Given the description of an element on the screen output the (x, y) to click on. 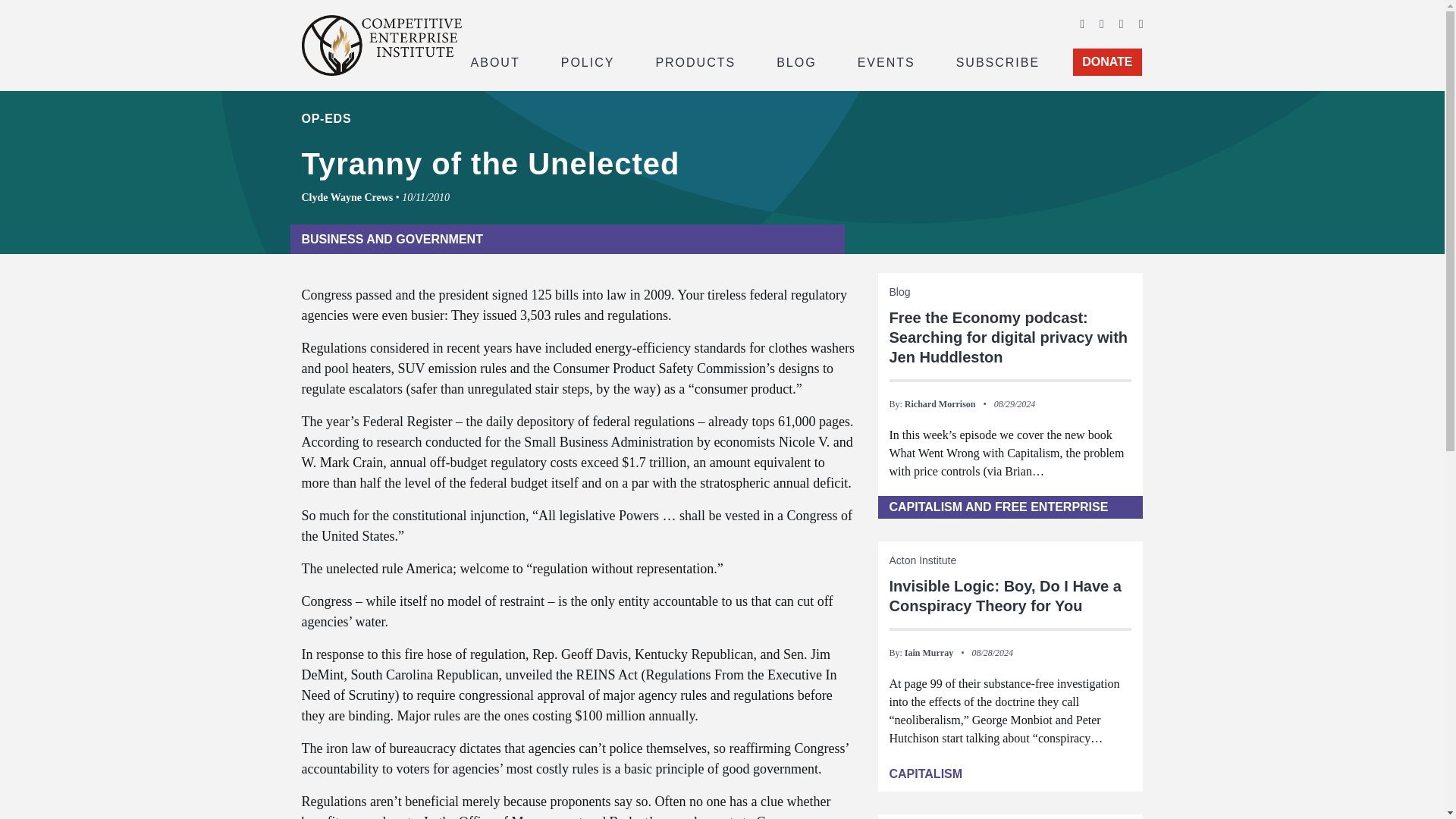
PRODUCTS (694, 61)
DONATE (1107, 62)
SUBSCRIBE (997, 61)
ABOUT (495, 61)
BLOG (796, 61)
EVENTS (886, 61)
POLICY (588, 61)
